Given the description of an element on the screen output the (x, y) to click on. 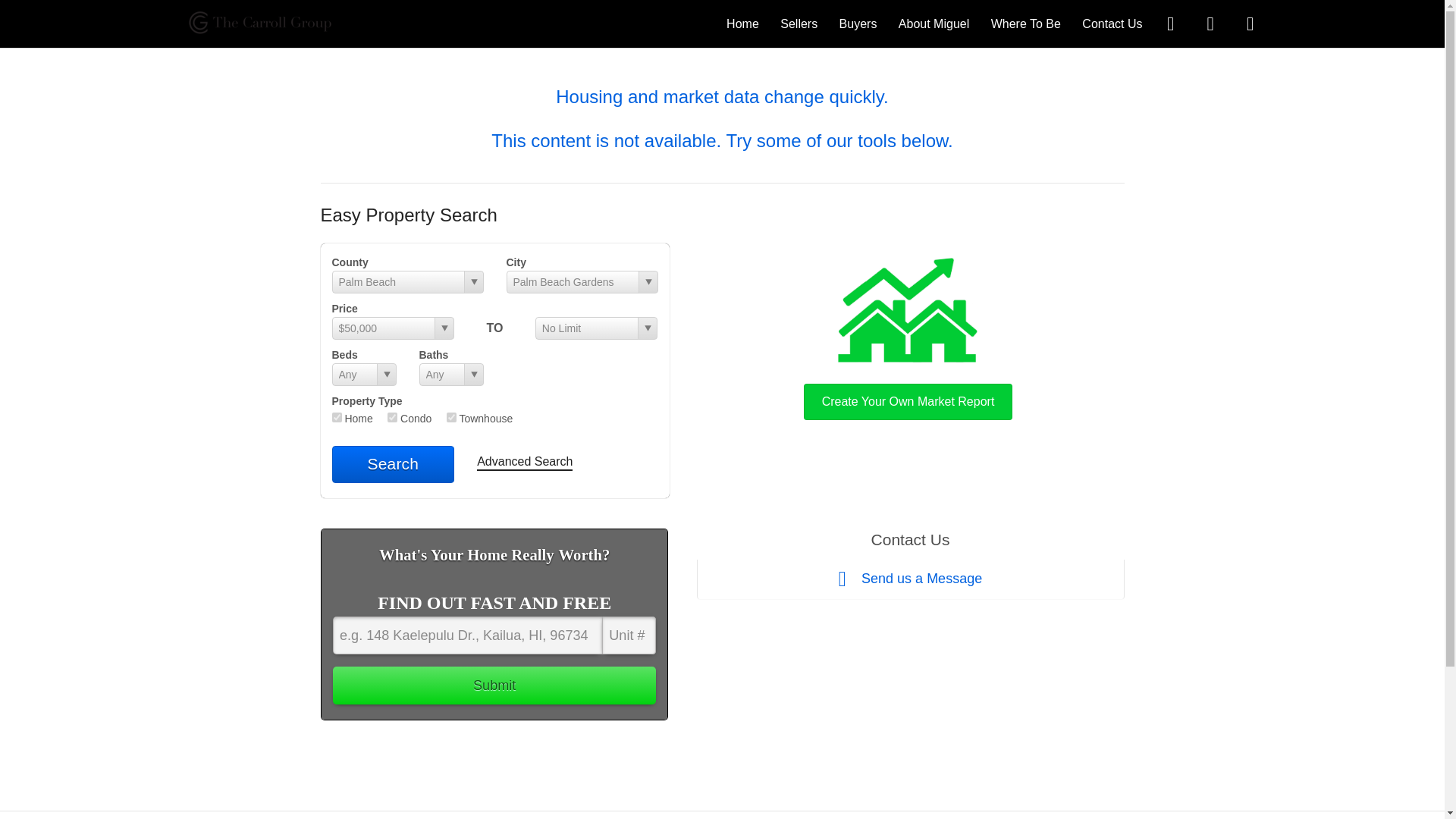
Where To Be (1026, 23)
Contact Us (1111, 23)
res (336, 417)
Advanced Search (524, 462)
Search (392, 463)
Create Your Own Market Report (907, 335)
About Miguel (933, 23)
twn (451, 417)
Send us a Message (909, 578)
con (392, 417)
Search (392, 463)
Home (742, 23)
Sellers (798, 23)
Buyers (858, 23)
